Given the description of an element on the screen output the (x, y) to click on. 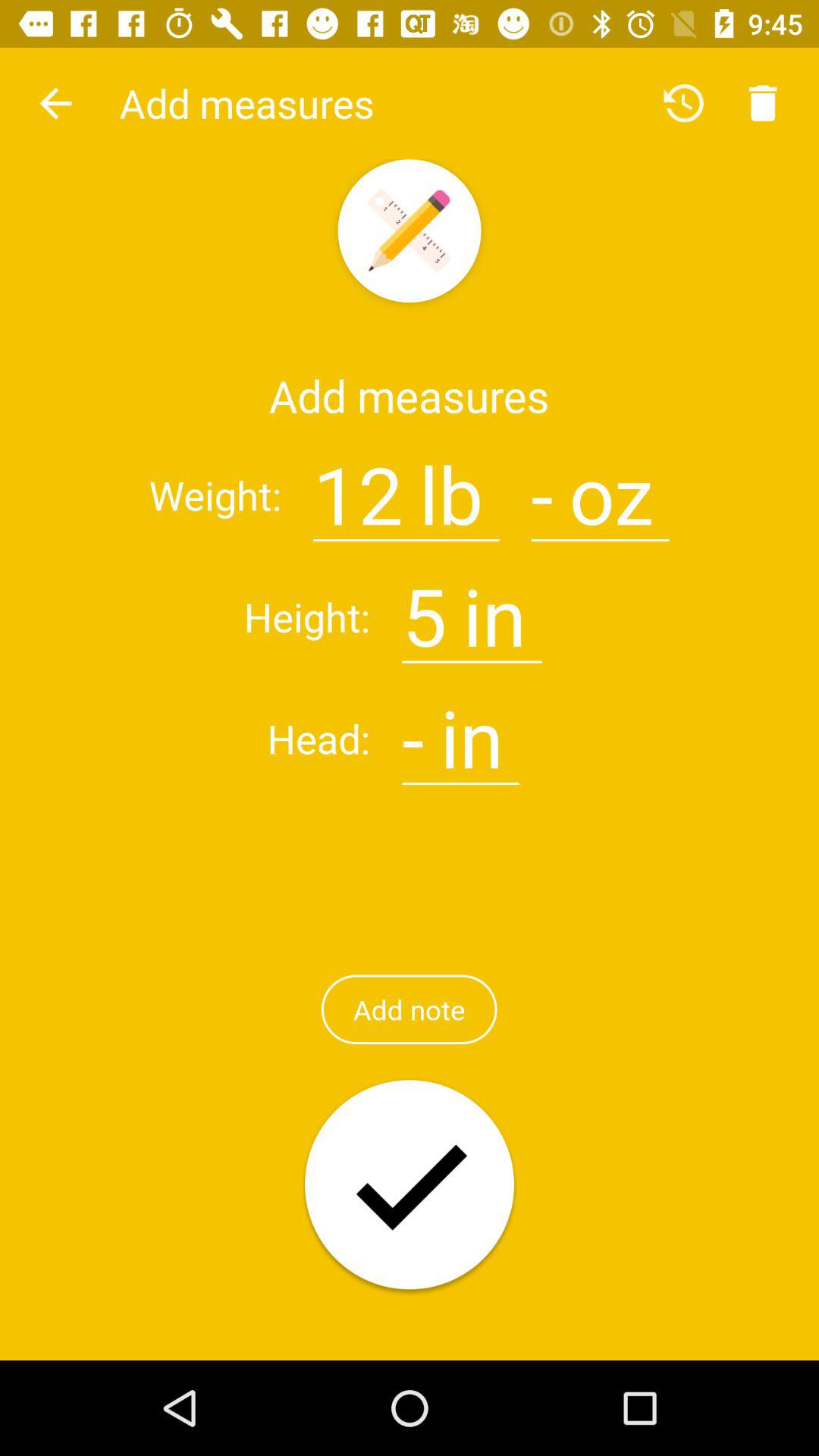
choose item to the left of the add measures (55, 103)
